Given the description of an element on the screen output the (x, y) to click on. 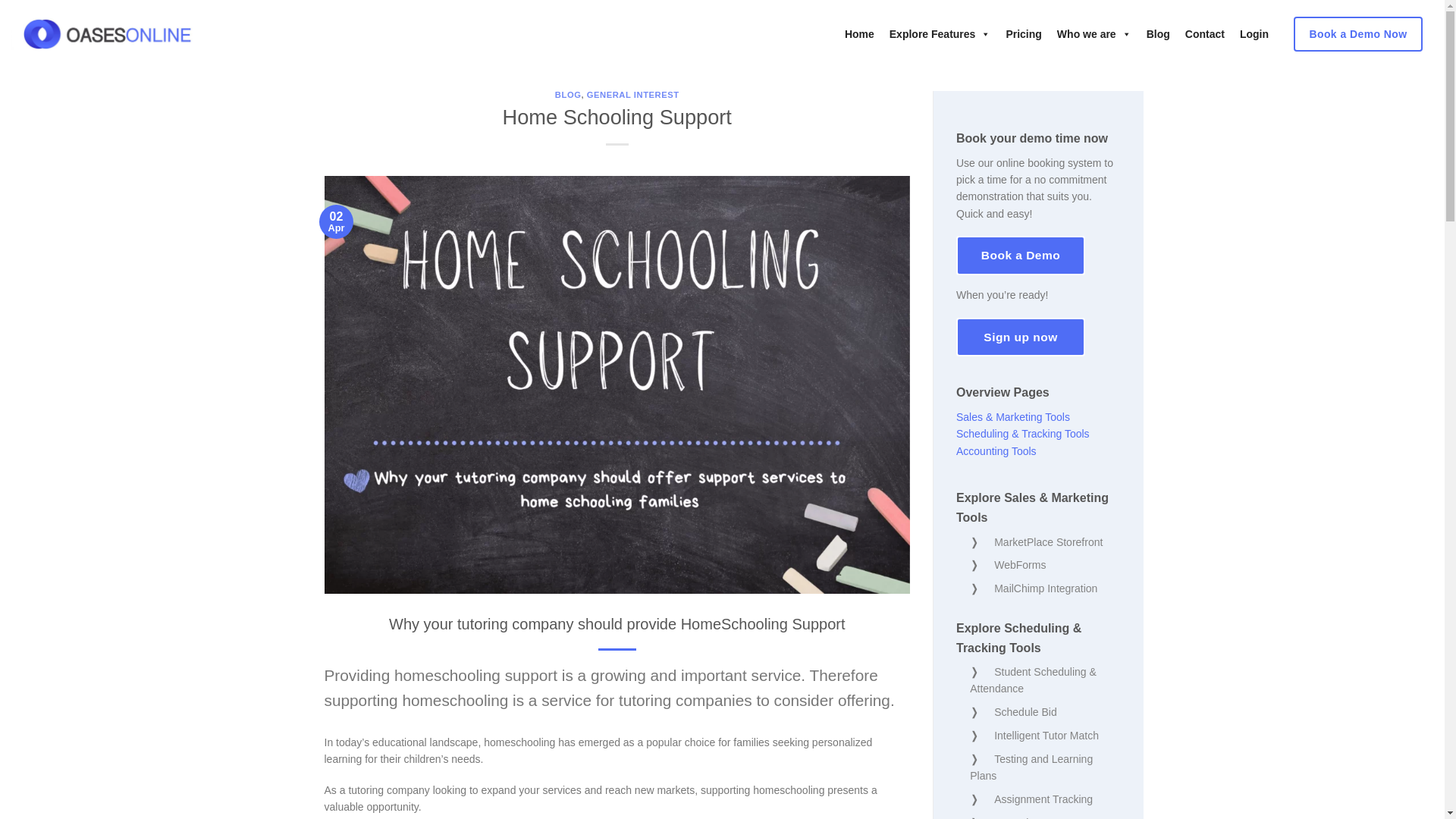
Pricing (1022, 33)
Login (1253, 33)
Blog (1157, 33)
Oases Online - tutoring management software (107, 34)
Contact (1204, 33)
Home (859, 33)
Who we are (1093, 33)
Explore Features (940, 33)
BLOG (567, 94)
Book a Demo Now (1358, 33)
